Given the description of an element on the screen output the (x, y) to click on. 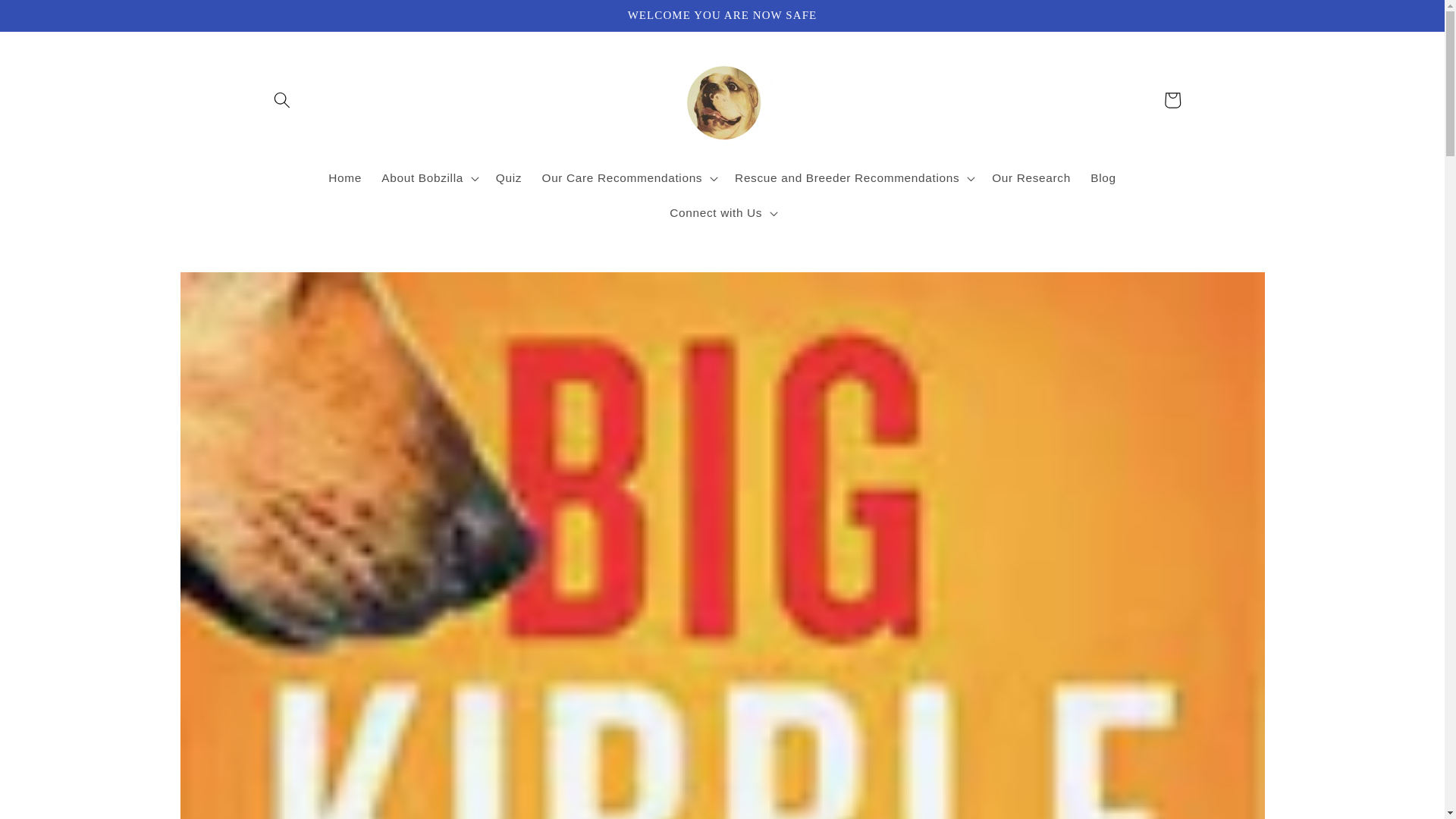
Home (344, 177)
Quiz (509, 177)
Skip to content (49, 18)
